Given the description of an element on the screen output the (x, y) to click on. 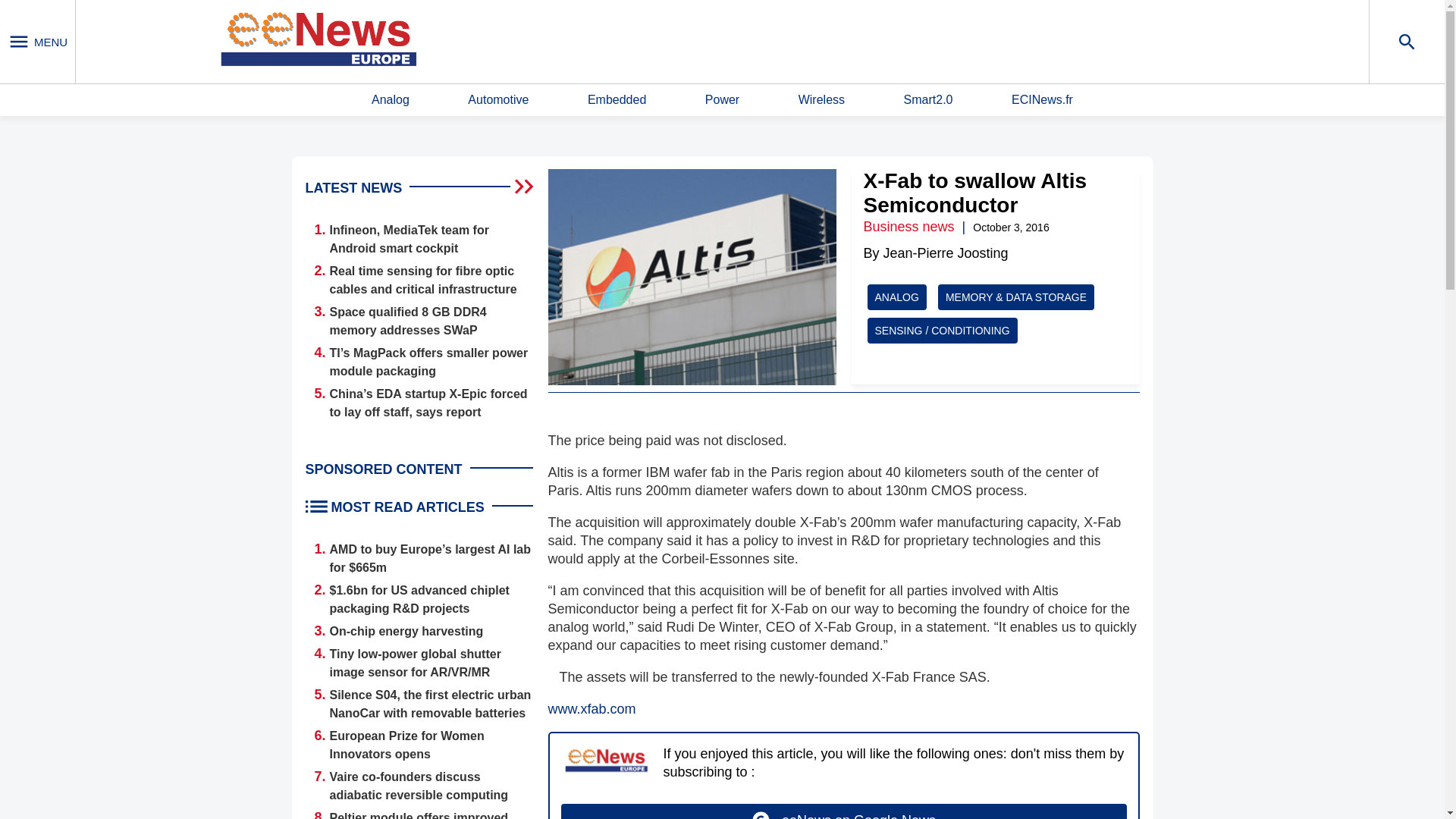
Wireless (820, 99)
Smart2.0 (928, 99)
Automotive (497, 99)
Embedded (617, 99)
Power (721, 99)
Analog (390, 99)
ECINews.fr (1042, 99)
